Given the description of an element on the screen output the (x, y) to click on. 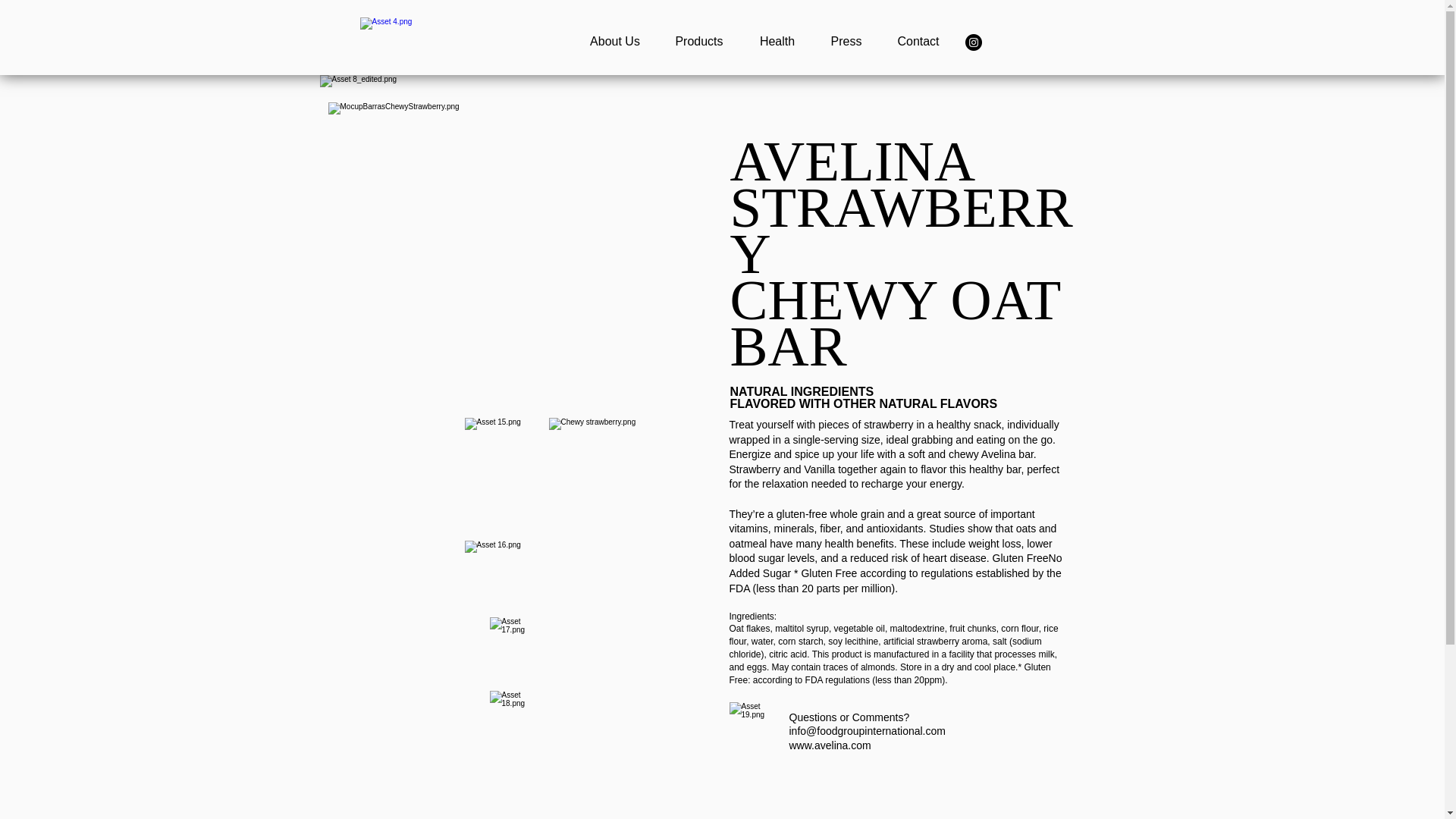
Contact (918, 41)
About Us (615, 41)
Press (845, 41)
www.avelina.com (829, 745)
Health (777, 41)
Products (698, 41)
